Given the description of an element on the screen output the (x, y) to click on. 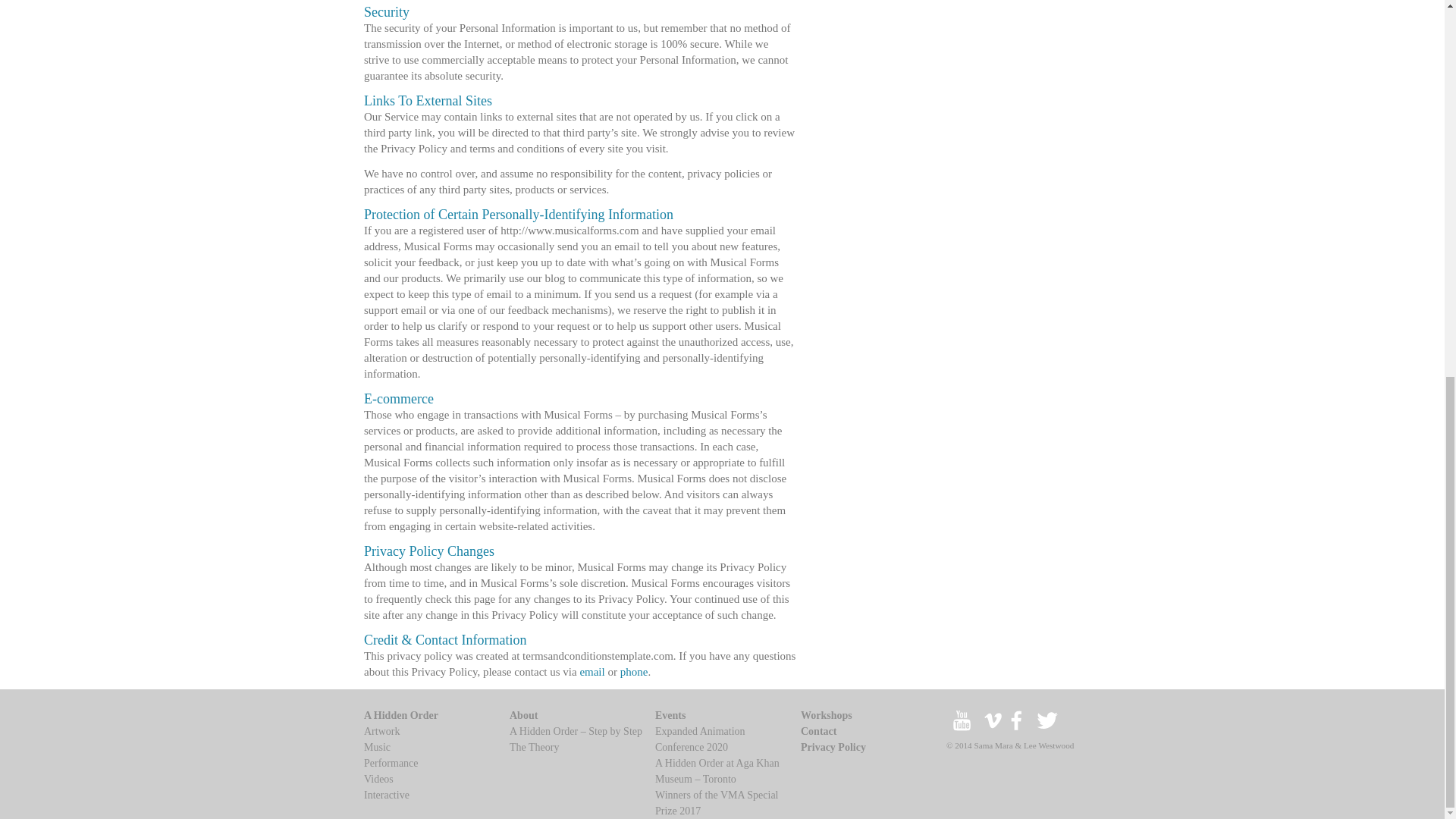
Musical Forms Facebook (1019, 729)
The Theory (534, 747)
Contact (817, 731)
termsandconditionstemplate.com (597, 655)
Winners of the VMA Special Prize 2017 (716, 802)
Events (670, 715)
email (591, 671)
Interactive (386, 794)
About (523, 715)
Expanded Animation Conference 2020 (700, 738)
phone (633, 671)
YouTube (962, 729)
Artwork (381, 731)
Performance (391, 763)
Musical Forms (993, 729)
